Given the description of an element on the screen output the (x, y) to click on. 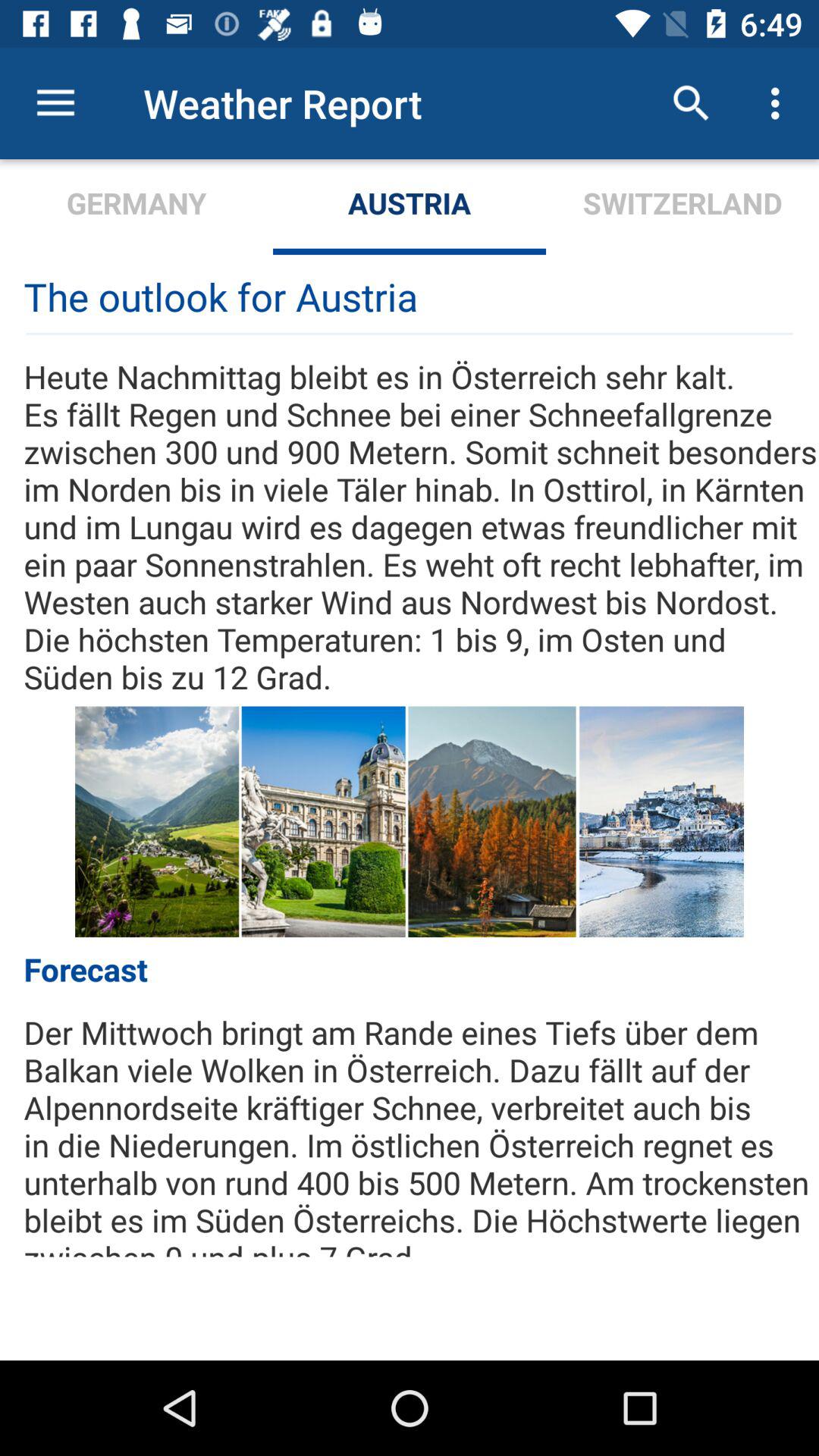
click germany item (136, 206)
